Given the description of an element on the screen output the (x, y) to click on. 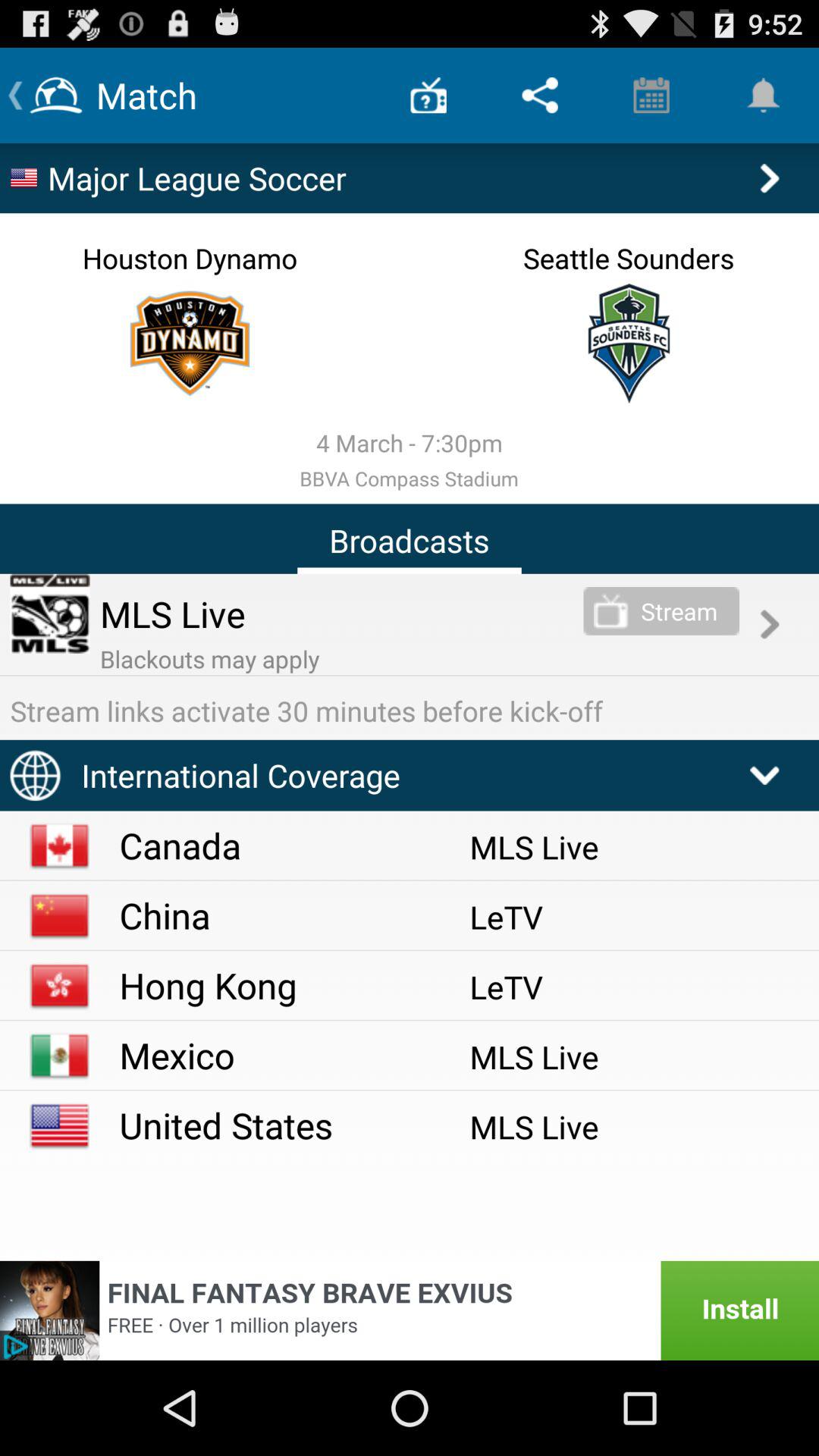
launch icon to the right of the match app (428, 95)
